Given the description of an element on the screen output the (x, y) to click on. 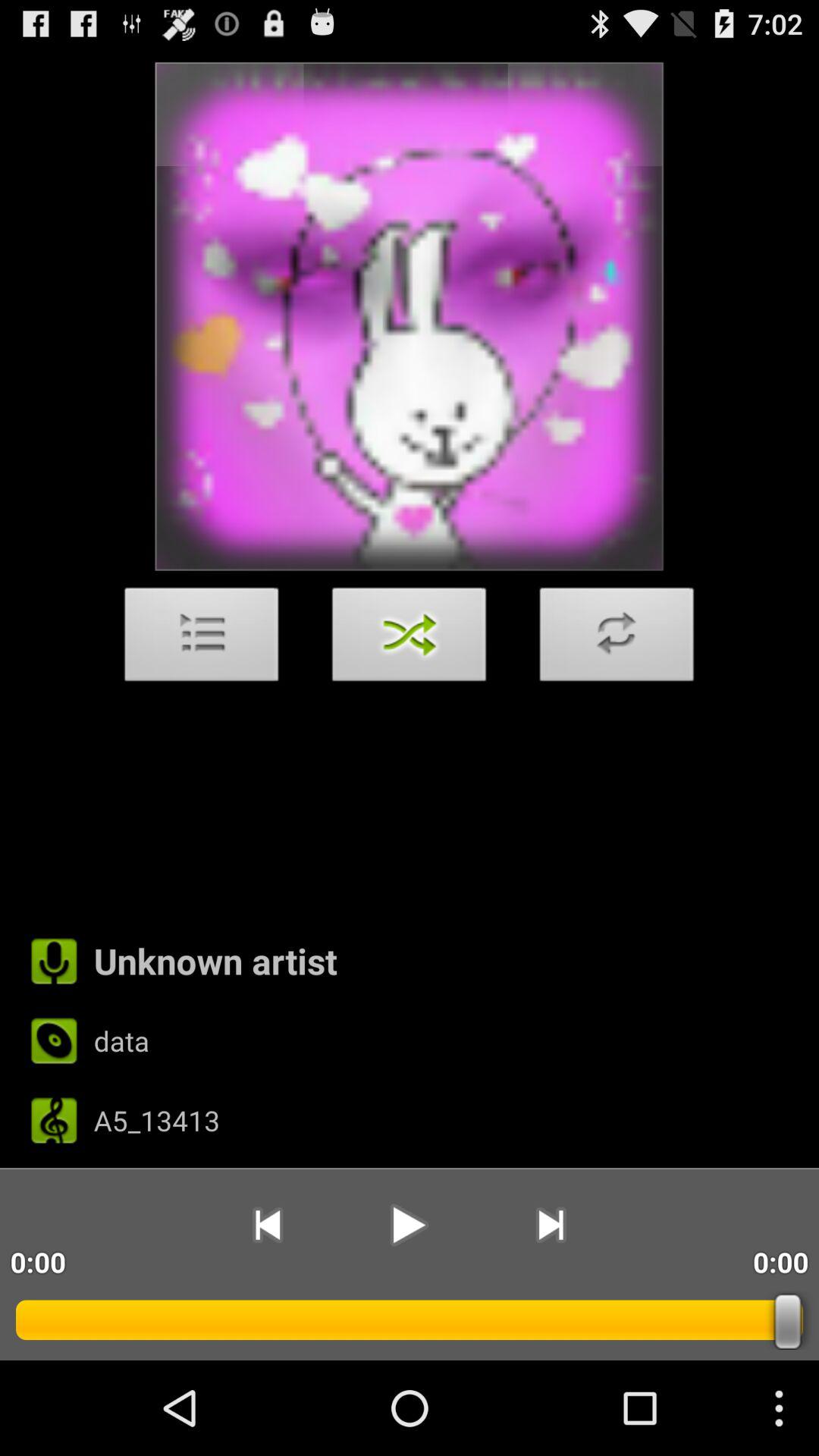
click on forward button (550, 1224)
